Given the description of an element on the screen output the (x, y) to click on. 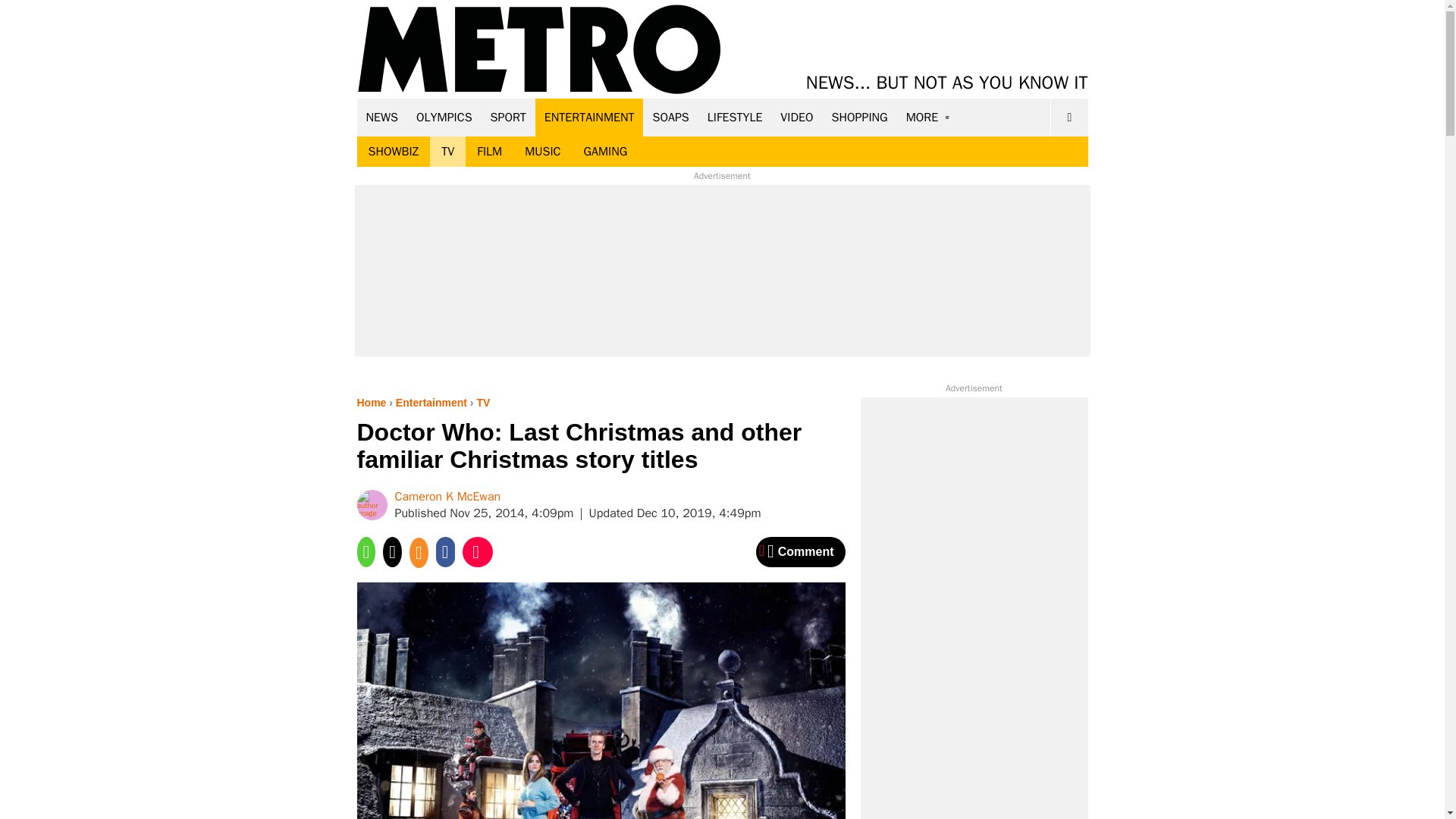
GAMING (605, 151)
Metro (539, 50)
LIFESTYLE (734, 117)
OLYMPICS (444, 117)
TV (447, 151)
SHOWBIZ (392, 151)
FILM (489, 151)
SOAPS (670, 117)
SPORT (508, 117)
MUSIC (542, 151)
NEWS (381, 117)
ENTERTAINMENT (589, 117)
